Given the description of an element on the screen output the (x, y) to click on. 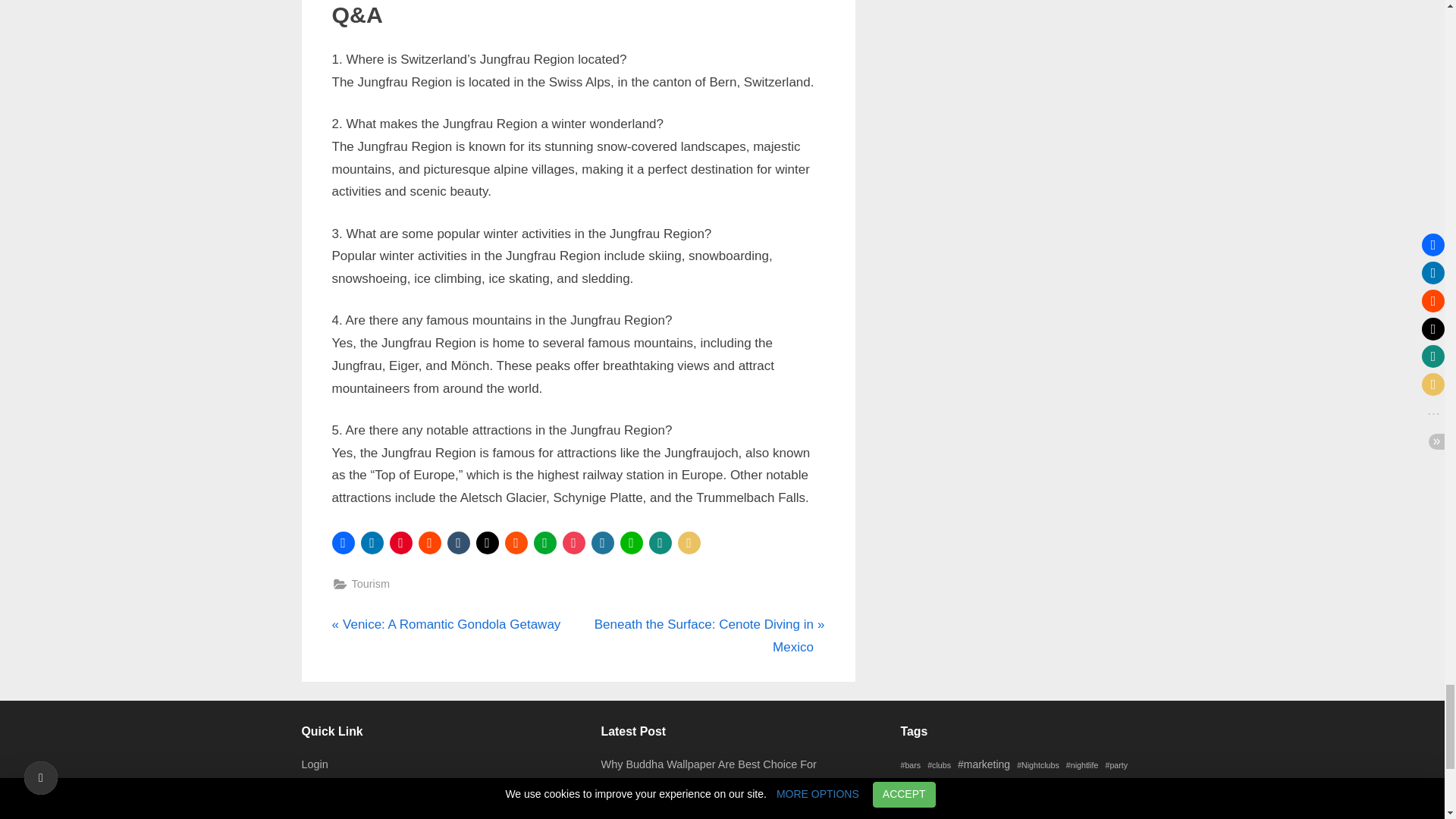
Tourism (445, 624)
